Given the description of an element on the screen output the (x, y) to click on. 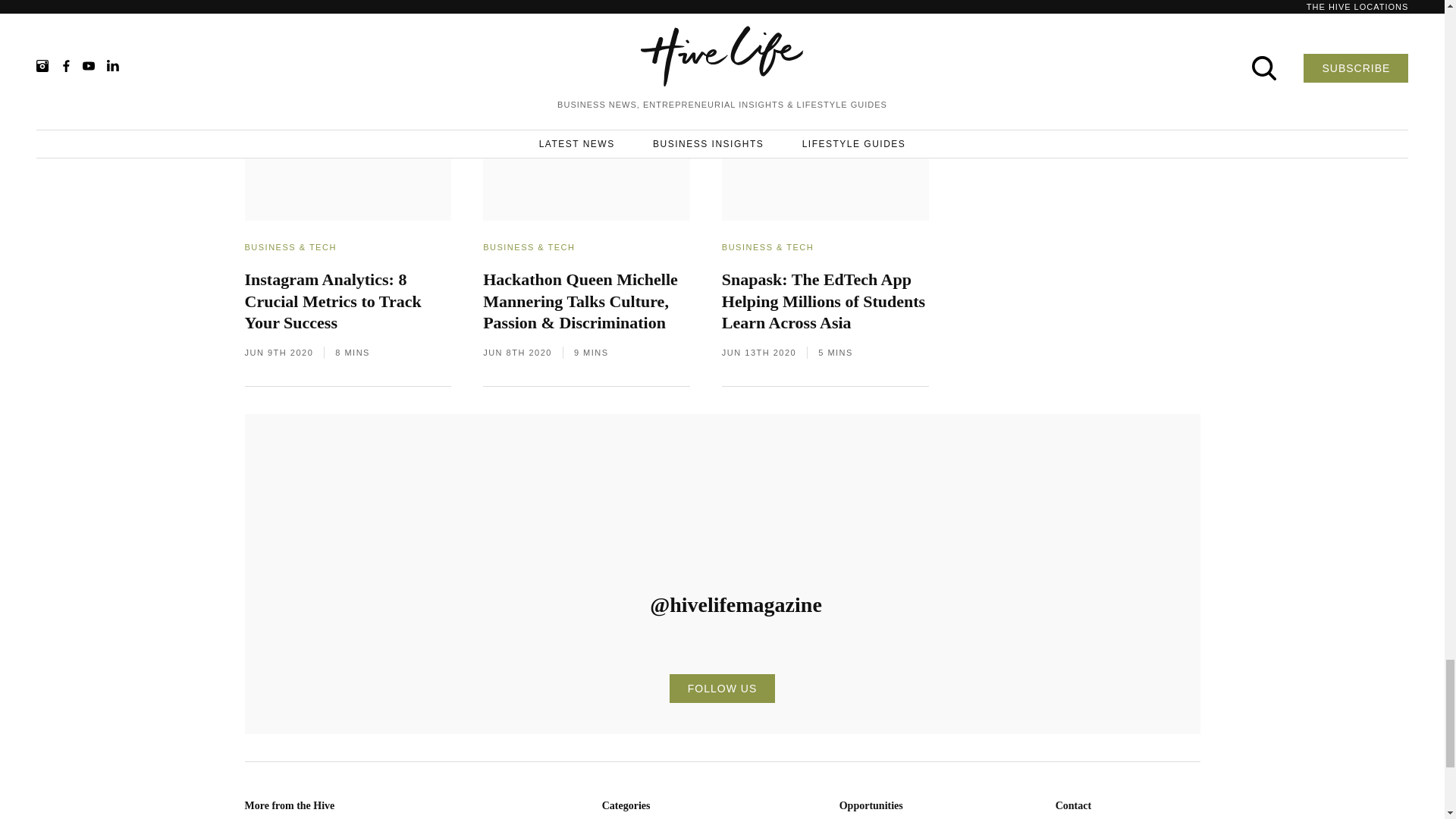
Instagram Analytics: 8 Crucial Metrics to Track Your Success (347, 316)
